Given the description of an element on the screen output the (x, y) to click on. 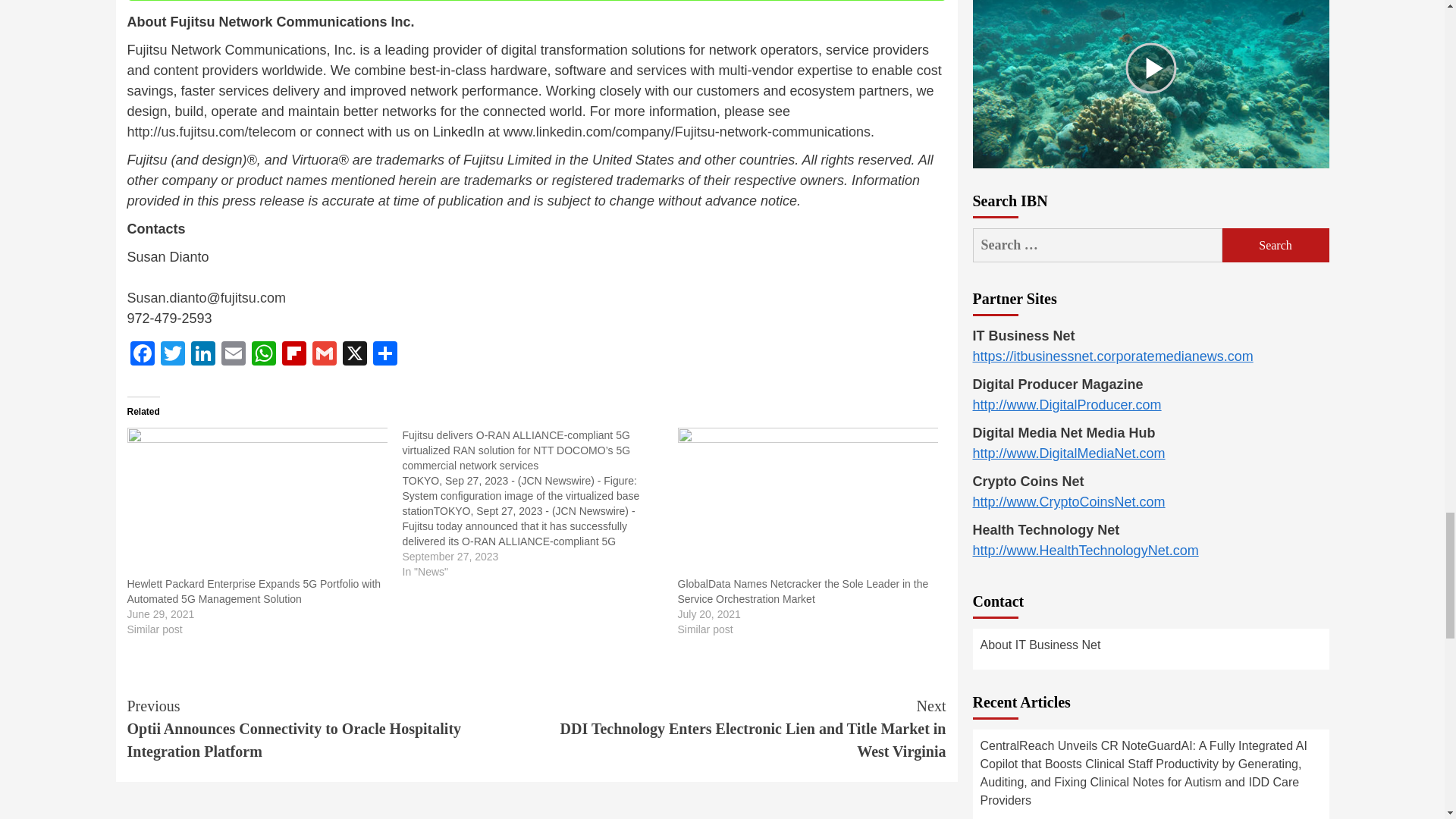
Facebook (142, 355)
WhatsApp (263, 355)
Email (233, 355)
Twitter (172, 355)
Twitter (172, 355)
LinkedIn (202, 355)
Facebook (142, 355)
Email (233, 355)
LinkedIn (202, 355)
